Given the description of an element on the screen output the (x, y) to click on. 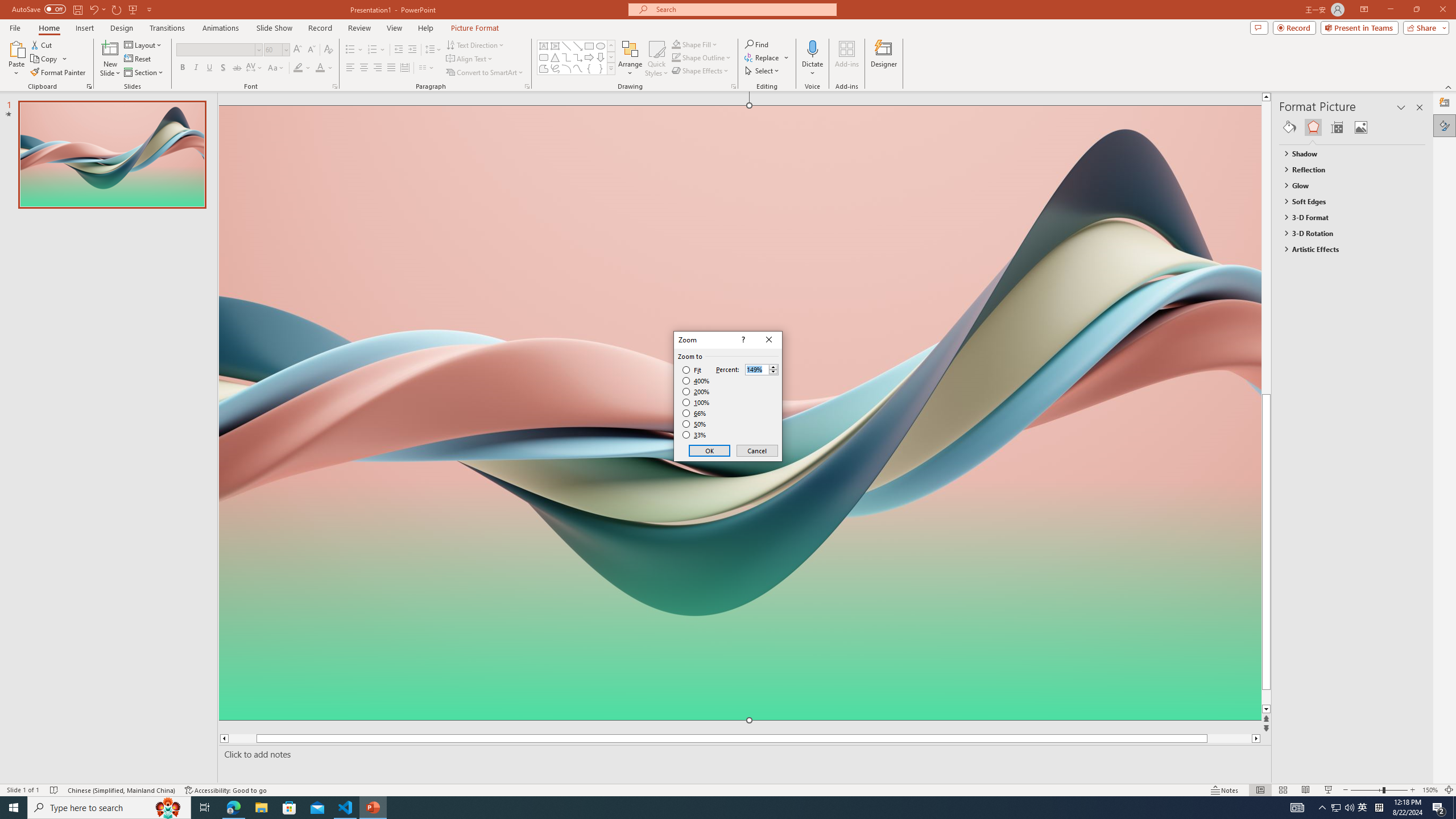
Fit (691, 370)
AutomationID: 4105 (1297, 807)
Text Box (543, 45)
Arrange (630, 58)
OK (709, 450)
Right Brace (600, 68)
Shape Fill Orange, Accent 2 (675, 44)
Show desktop (1454, 807)
Layout (143, 44)
